Given the description of an element on the screen output the (x, y) to click on. 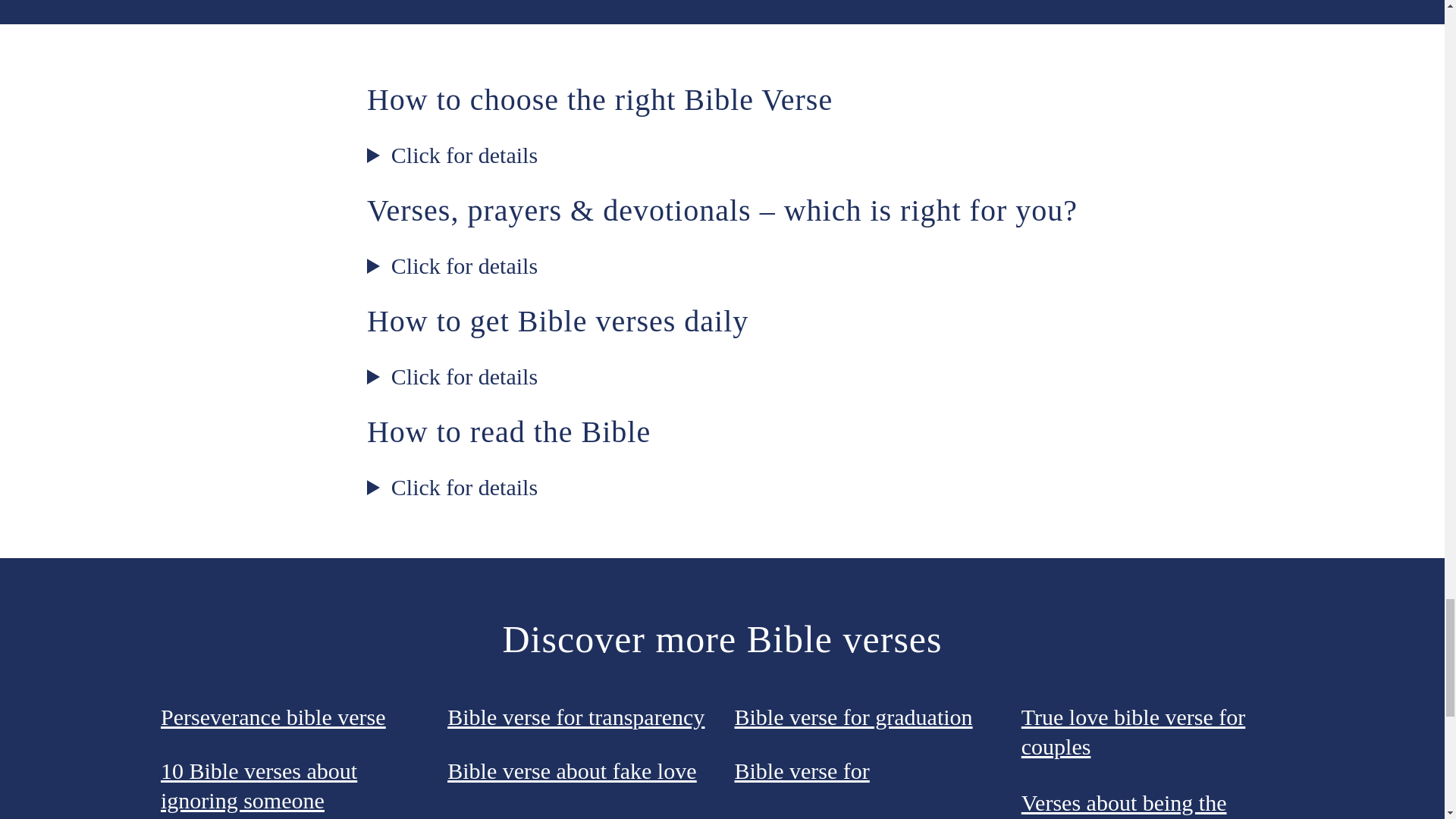
Perseverance bible verse (272, 715)
Bible verse for transparency (575, 715)
Verses about being the bigger person (1124, 804)
10 verses about curiosity (846, 816)
Bible verse about fake love (570, 770)
11 Bible verses for toxic workplaces (557, 816)
10 Bible verses about ignoring someone (258, 785)
